Given the description of an element on the screen output the (x, y) to click on. 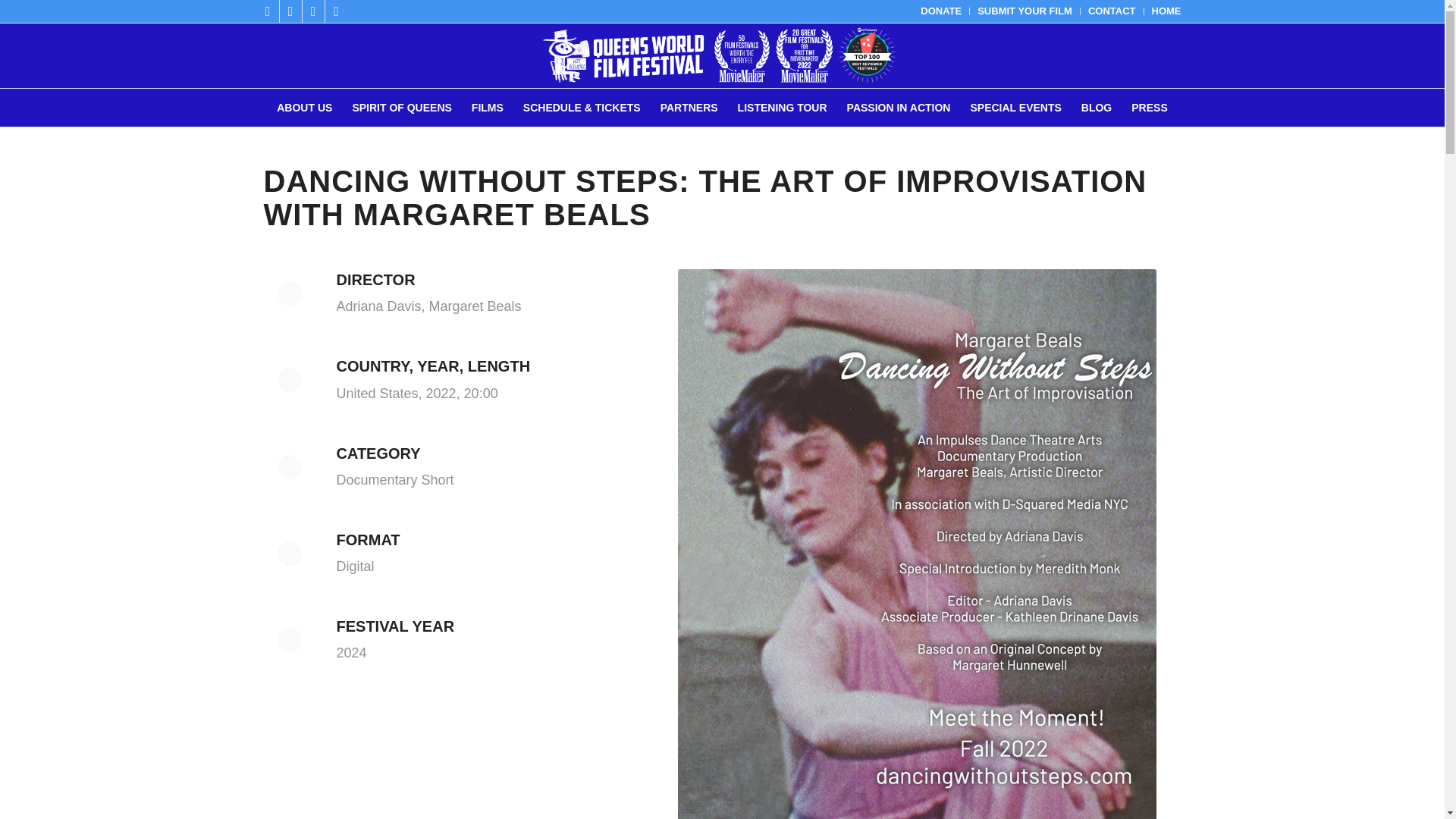
CONTACT (1111, 11)
SUBMIT YOUR FILM (1023, 11)
X (290, 11)
PASSION IN ACTION (898, 107)
Youtube (335, 11)
QWFF23-Logo-with-Laurels (721, 55)
FILMS (487, 107)
ABOUT US (304, 107)
DONATE (940, 11)
SPIRIT OF QUEENS (401, 107)
